Given the description of an element on the screen output the (x, y) to click on. 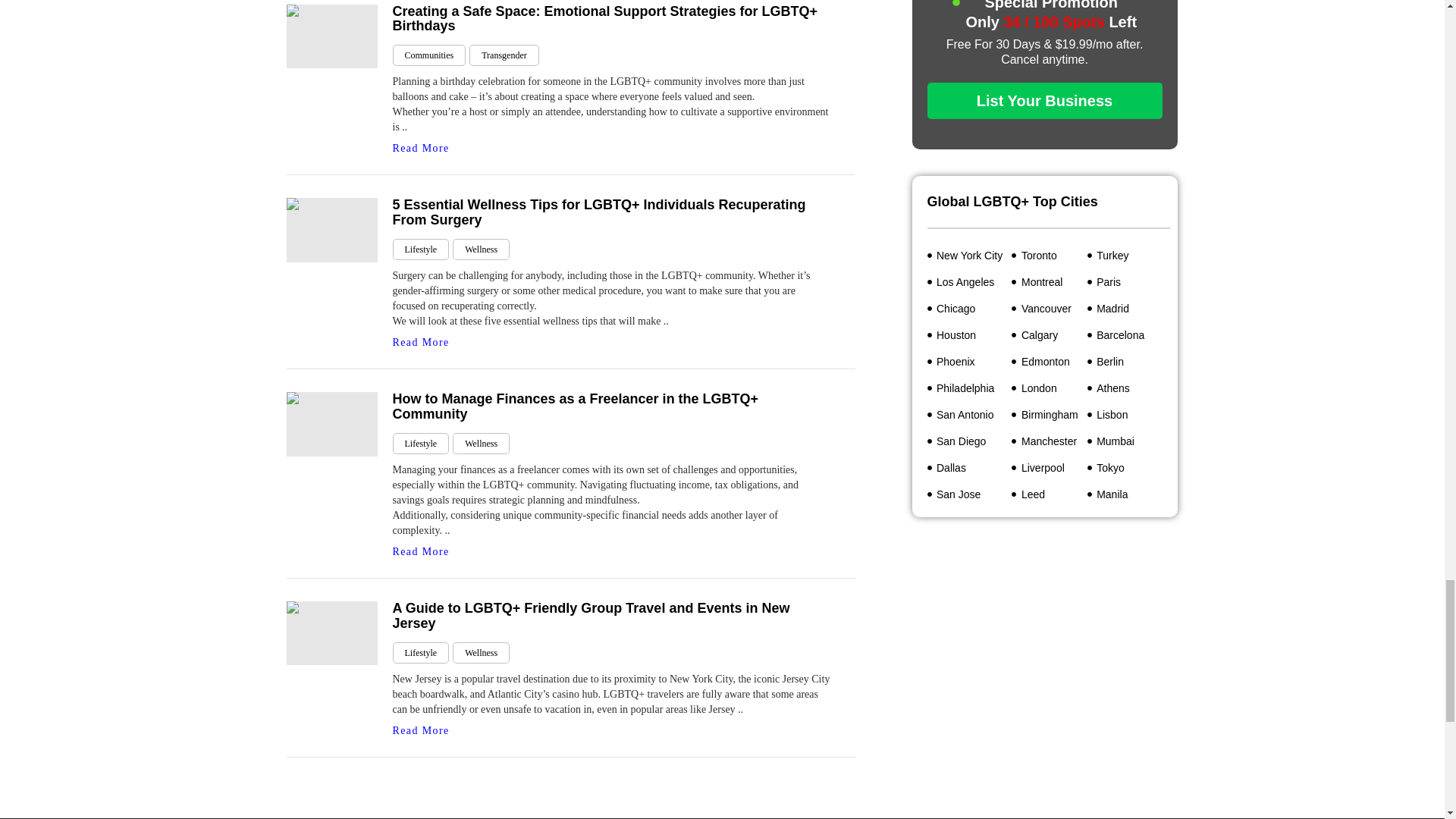
Search for a Therapist in New York City (968, 255)
Search for a Therapist in Los Angeles (968, 281)
